Given the description of an element on the screen output the (x, y) to click on. 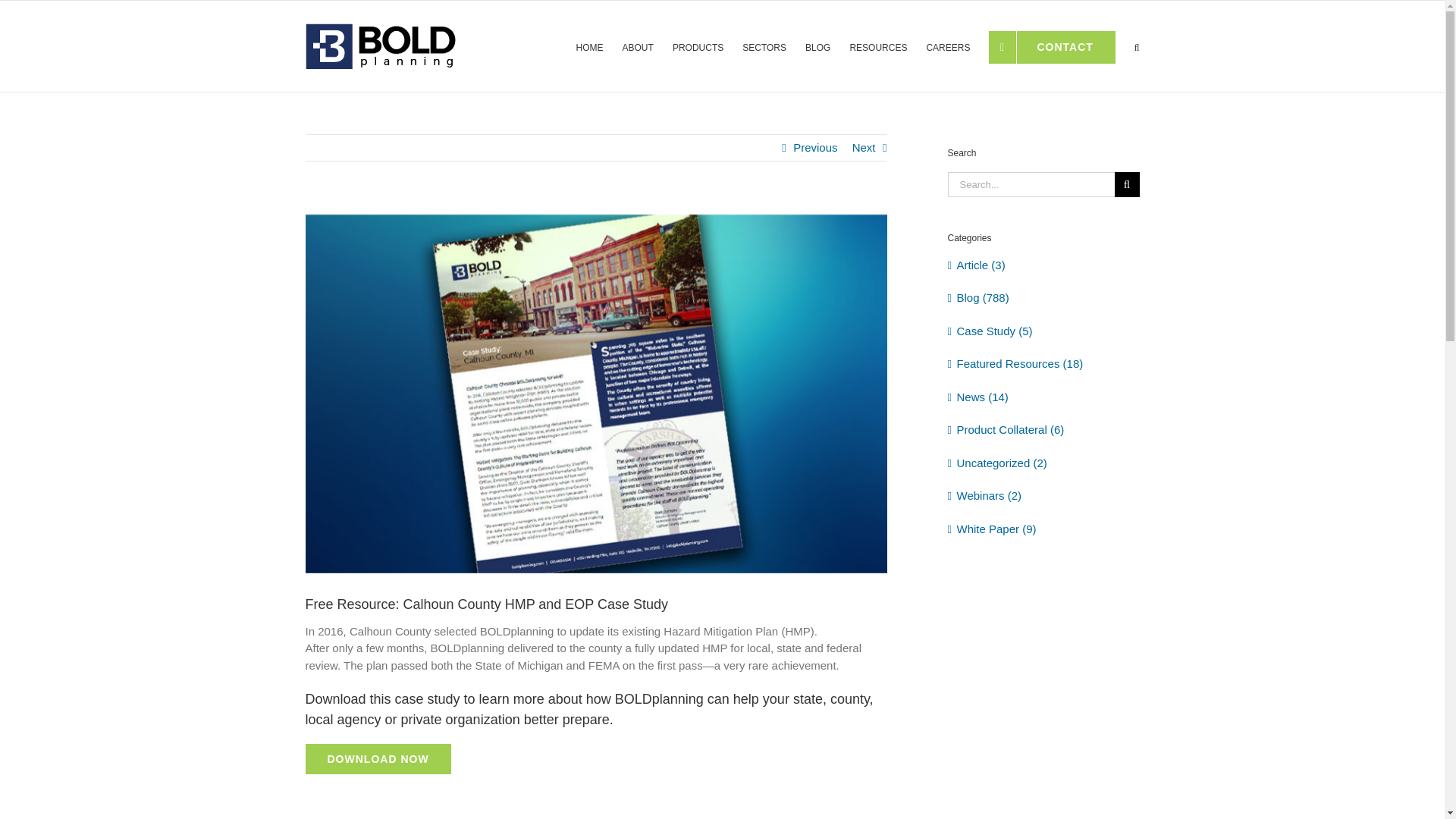
CONTACT (1051, 43)
